Given the description of an element on the screen output the (x, y) to click on. 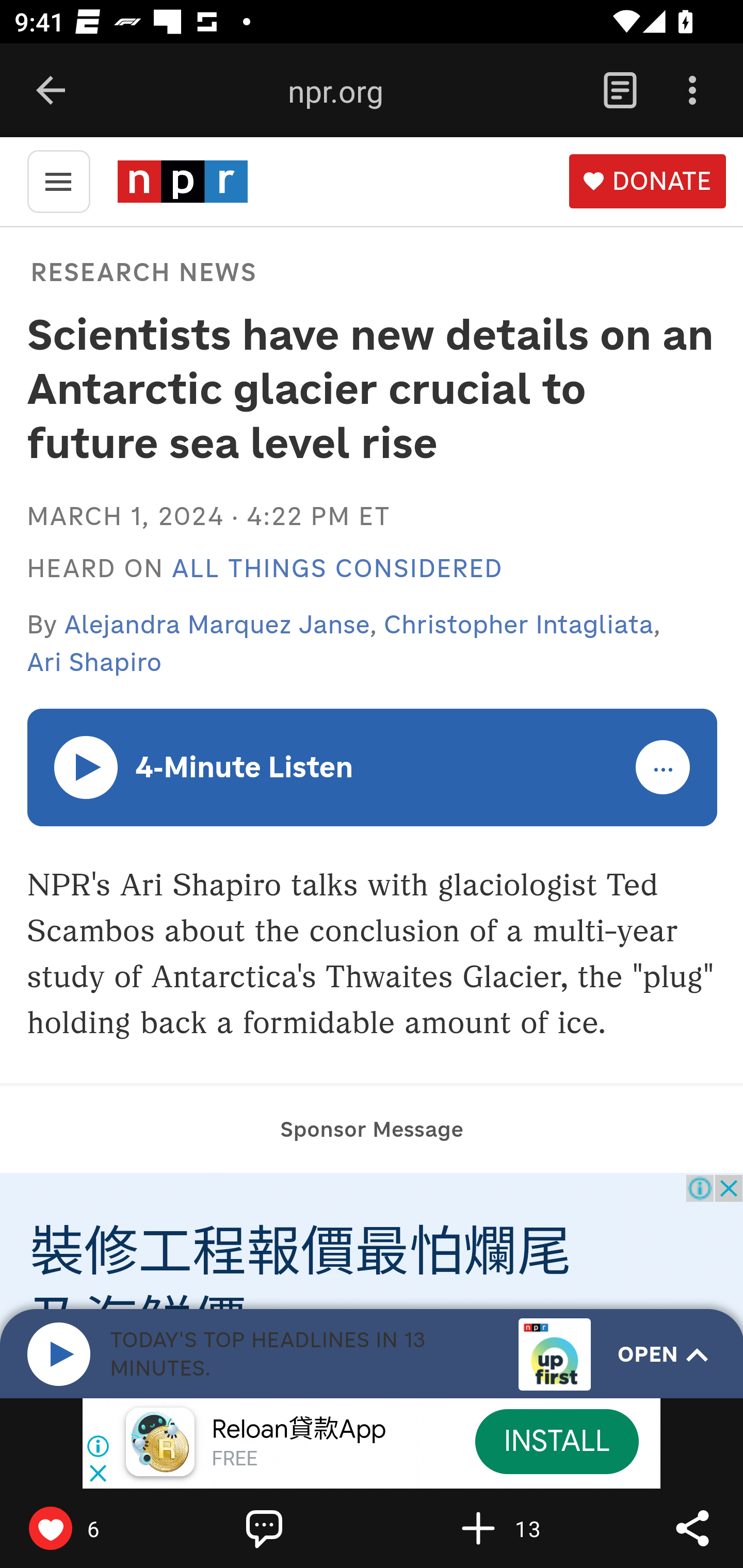
Back (50, 90)
Reader View (619, 90)
Options (692, 90)
Open Navigation Menu (58, 180)
DONATE (646, 181)
NPR logo (181, 180)
RESEARCH NEWS (142, 271)
MARCH 1, 2024 · 4:22 PM ET (208, 515)
ALL THINGS CONSIDERED (337, 568)
Alejandra Marquez Janse (217, 623)
Christopher Intagliata (518, 623)
Ari Shapiro (93, 662)
LISTEN· 4:24 (86, 766)
Toggle more options (663, 768)
INSTALL (556, 1441)
Reloan貸款App (298, 1429)
FREE (234, 1459)
Like 6 (93, 1528)
Write a comment… (307, 1528)
Flip into Magazine 13 (521, 1528)
Share (692, 1528)
